Given the description of an element on the screen output the (x, y) to click on. 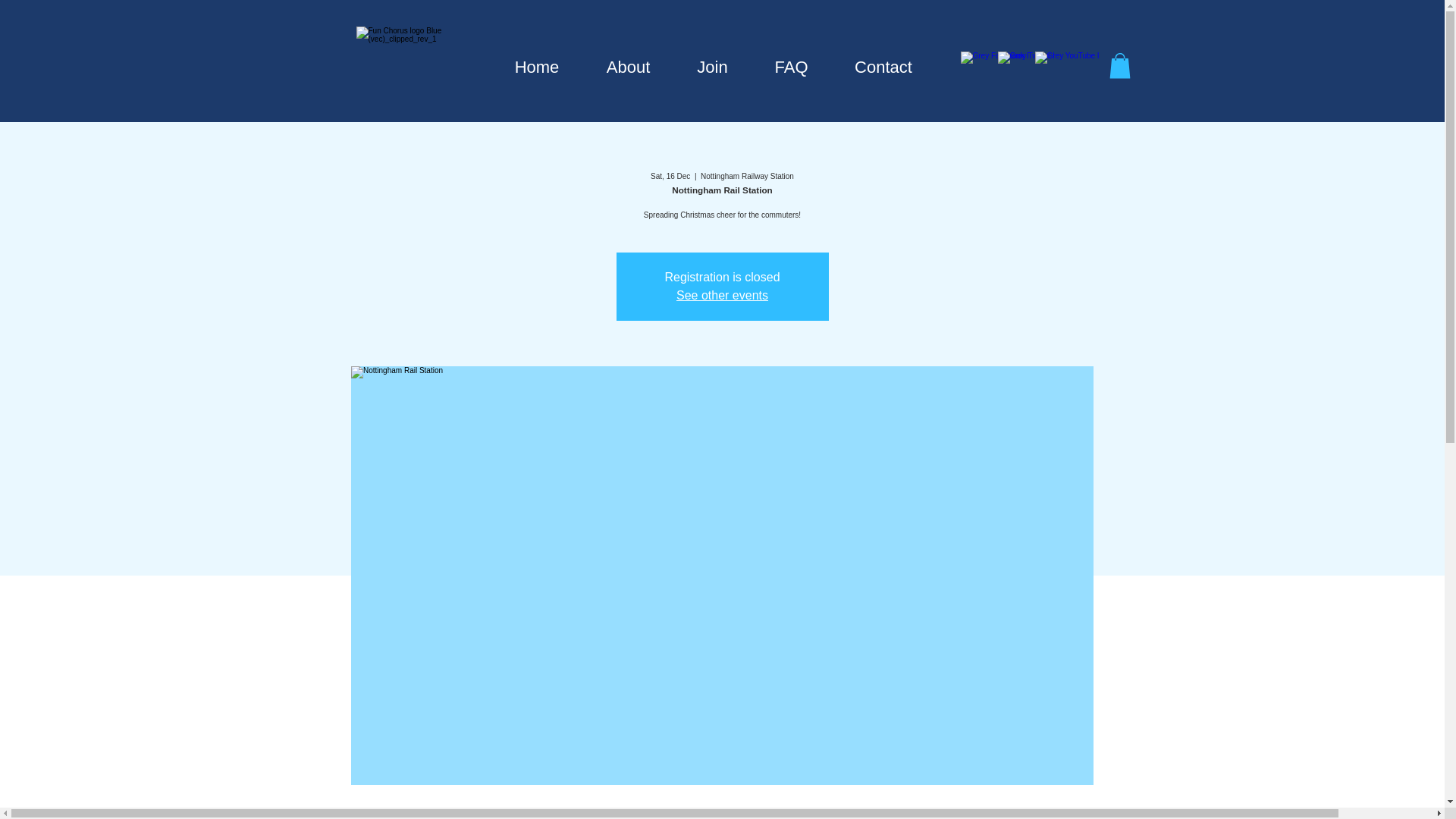
About (627, 67)
See other events (722, 295)
FAQ (791, 67)
Contact (882, 67)
Join (711, 67)
Home (537, 67)
